Given the description of an element on the screen output the (x, y) to click on. 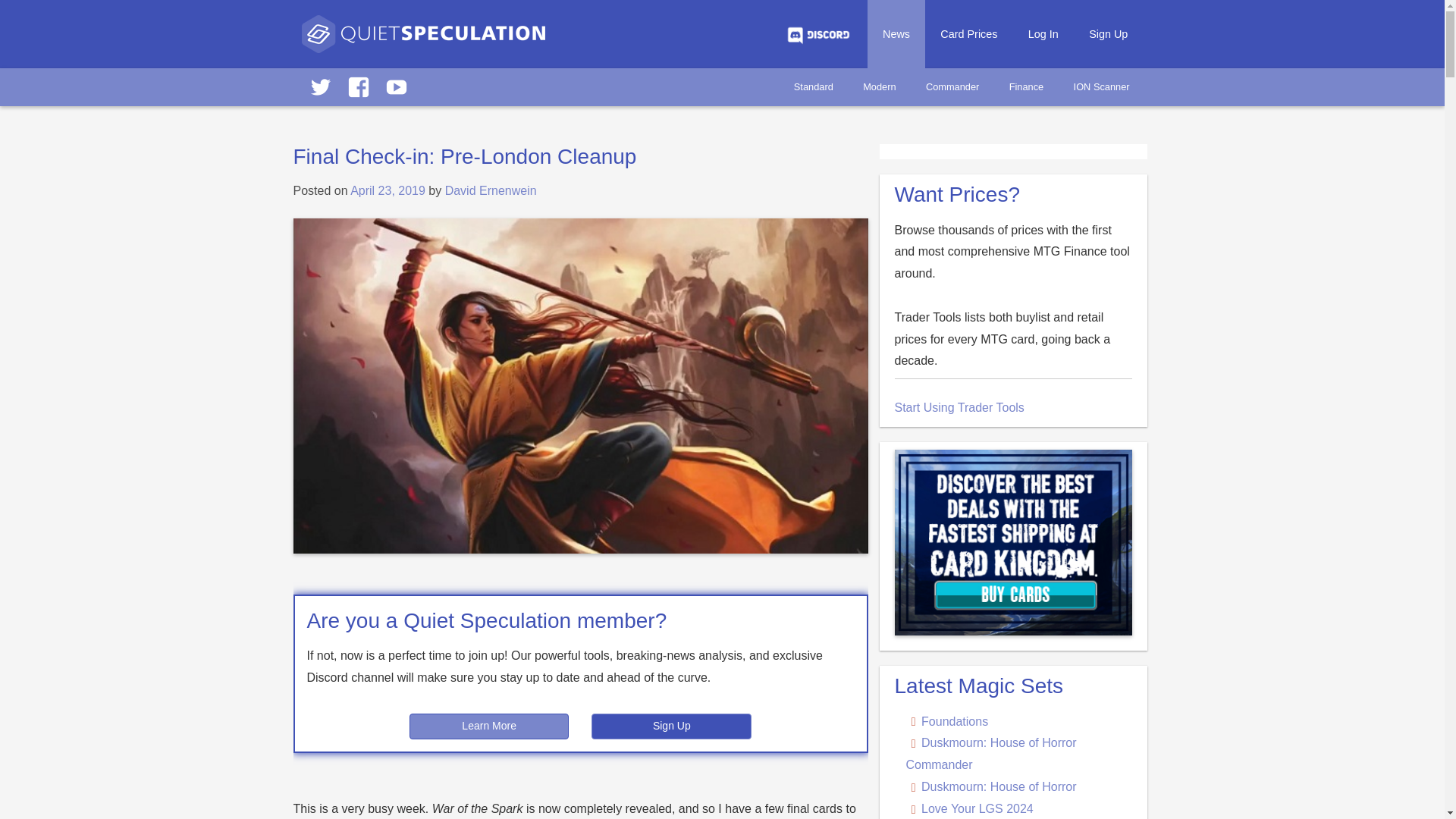
ION Scanner (1100, 86)
Standard (813, 86)
Homepage (422, 41)
Learn More (489, 726)
Finance (1026, 86)
David Ernenwein (491, 190)
Sign Up (1108, 33)
Log In (1043, 33)
Sign Up (671, 726)
Modern (878, 86)
